Given the description of an element on the screen output the (x, y) to click on. 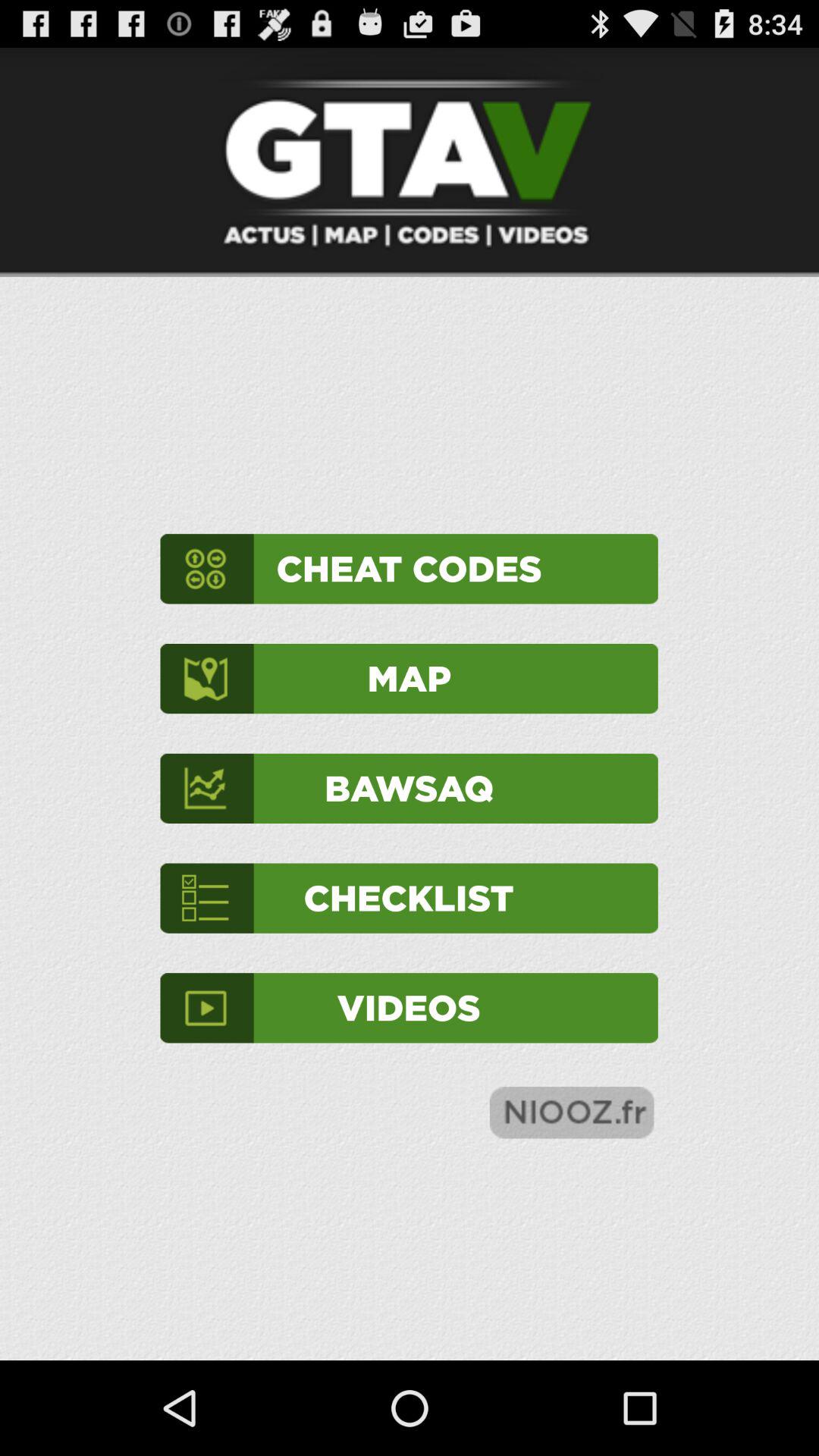
swipe until checklist item (409, 898)
